Given the description of an element on the screen output the (x, y) to click on. 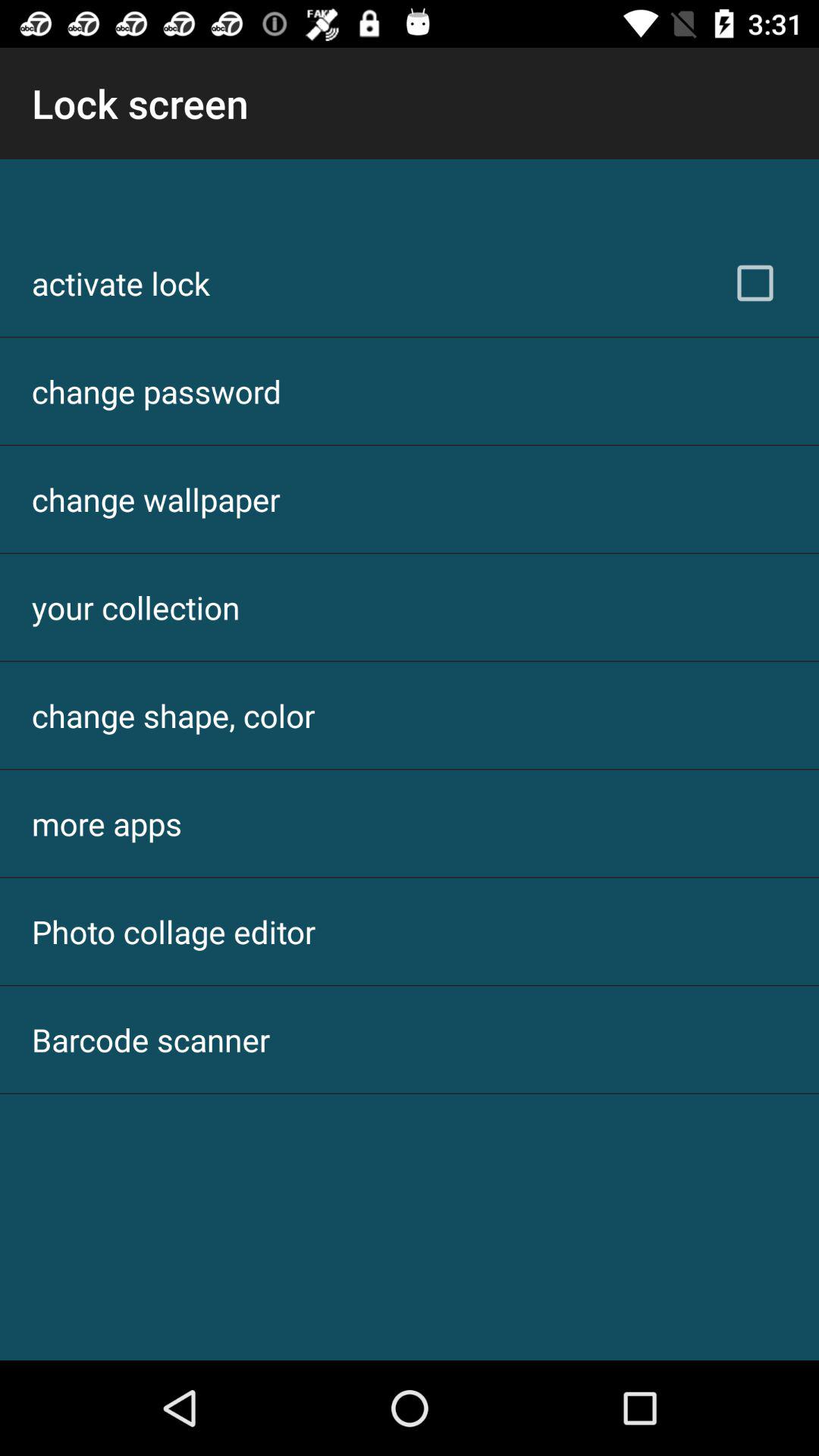
turn off the item at the top right corner (755, 283)
